Given the description of an element on the screen output the (x, y) to click on. 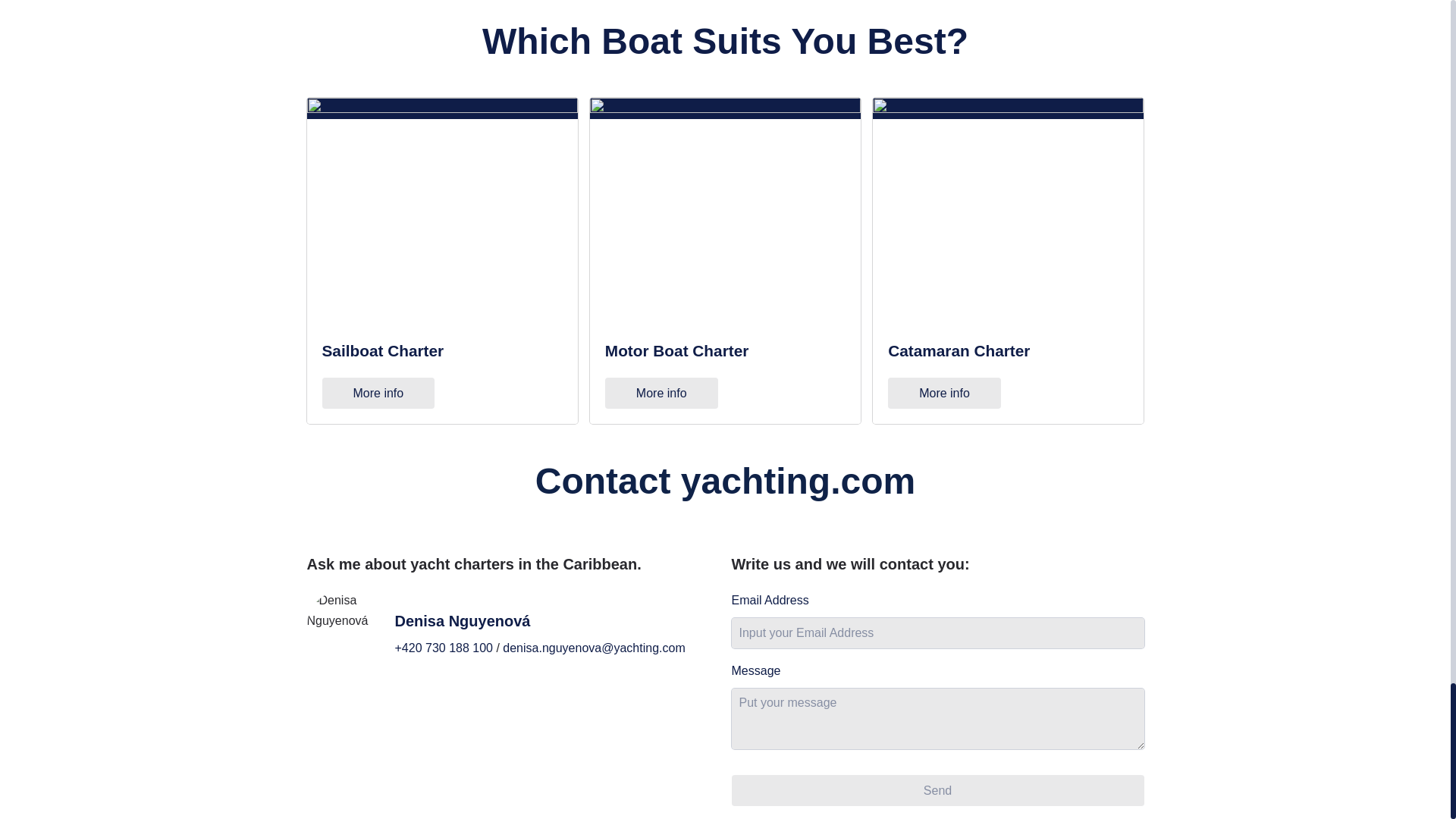
Send (936, 789)
